Given the description of an element on the screen output the (x, y) to click on. 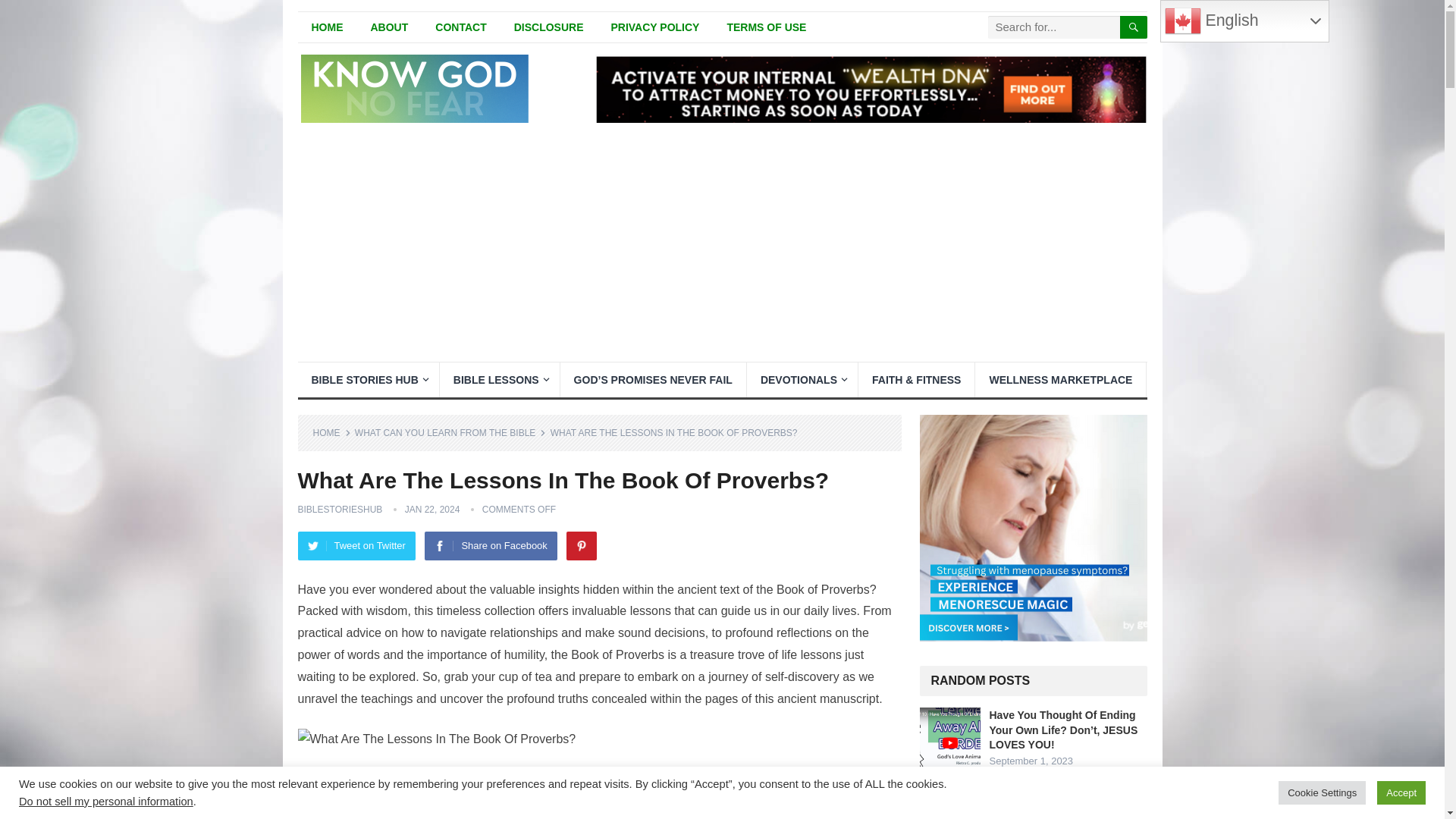
CONTACT (460, 27)
PRIVACY POLICY (654, 27)
What Are The Lessons In The Book Of Proverbs? (436, 739)
BIBLESTORIESHUB (339, 509)
BIBLE LESSONS (499, 379)
View all posts in What Can You Learn From The Bible (451, 432)
Share on Facebook (490, 545)
TERMS OF USE (766, 27)
WHAT CAN YOU LEARN FROM THE BIBLE (451, 432)
HOME (326, 27)
HOME (331, 432)
Tweet on Twitter (355, 545)
Posts by biblestorieshub (339, 509)
DISCLOSURE (548, 27)
ABOUT (389, 27)
